Given the description of an element on the screen output the (x, y) to click on. 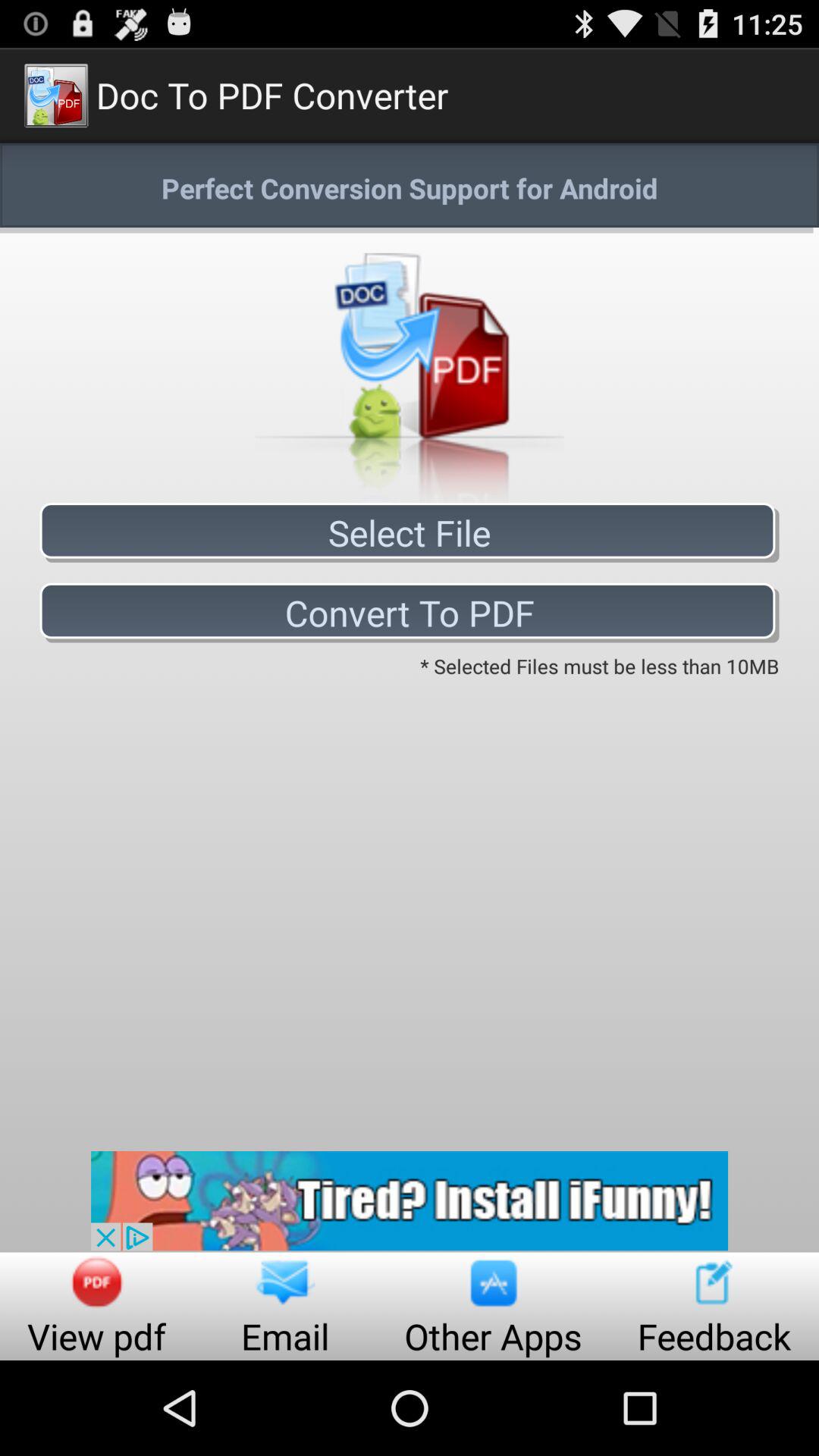
tired install funny (409, 1200)
